Given the description of an element on the screen output the (x, y) to click on. 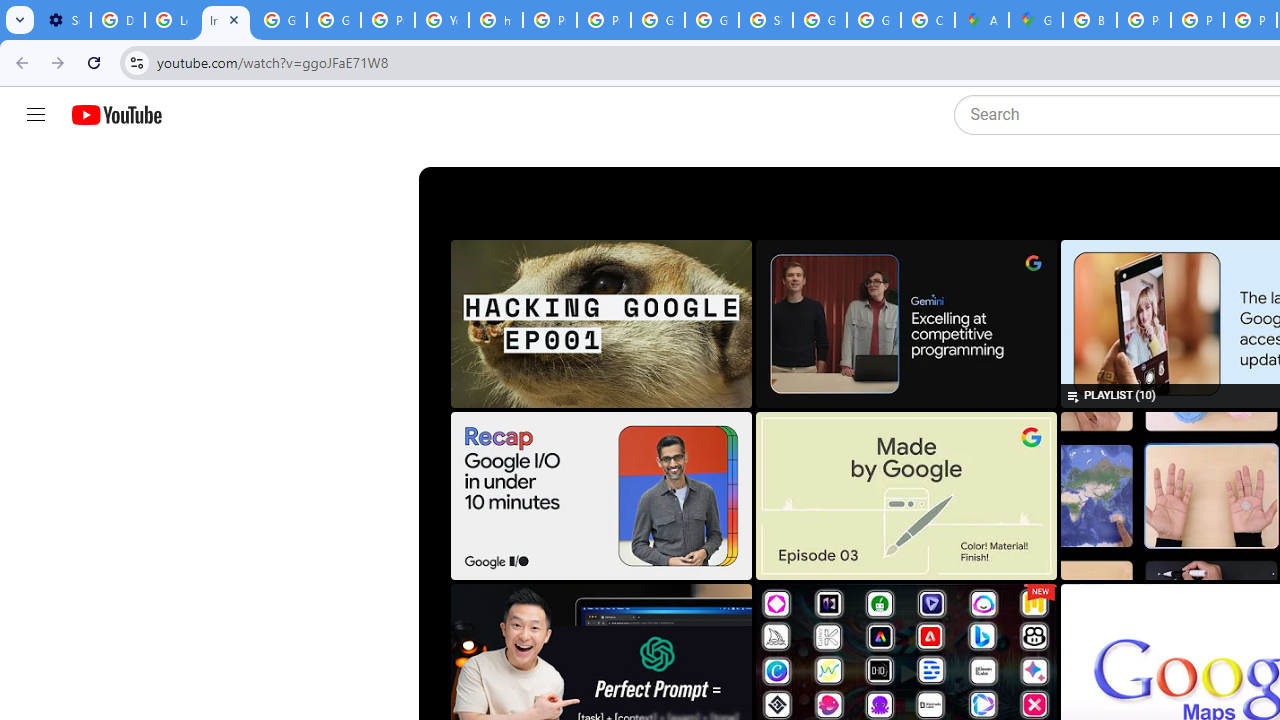
Create your Google Account (927, 20)
YouTube Home (116, 115)
Google Account Help (333, 20)
Sign in - Google Accounts (765, 20)
Learn how to find your photos - Google Photos Help (171, 20)
